Given the description of an element on the screen output the (x, y) to click on. 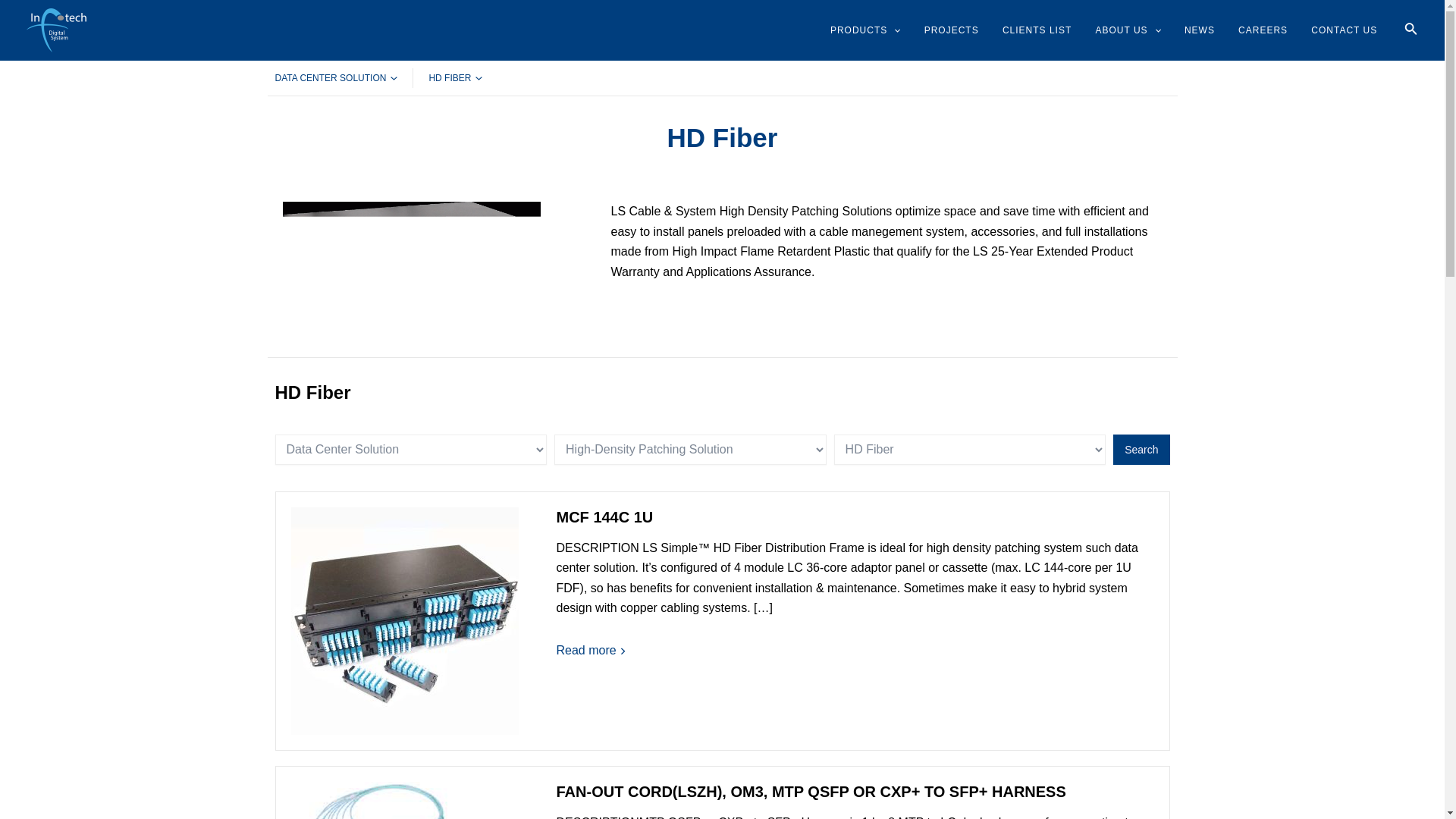
Search (1141, 449)
CONTACT US (1344, 30)
ABOUT US (1128, 30)
PROJECTS (951, 30)
PRODUCTS (865, 30)
CAREERS (1263, 30)
CLIENTS LIST (1036, 30)
